Given the description of an element on the screen output the (x, y) to click on. 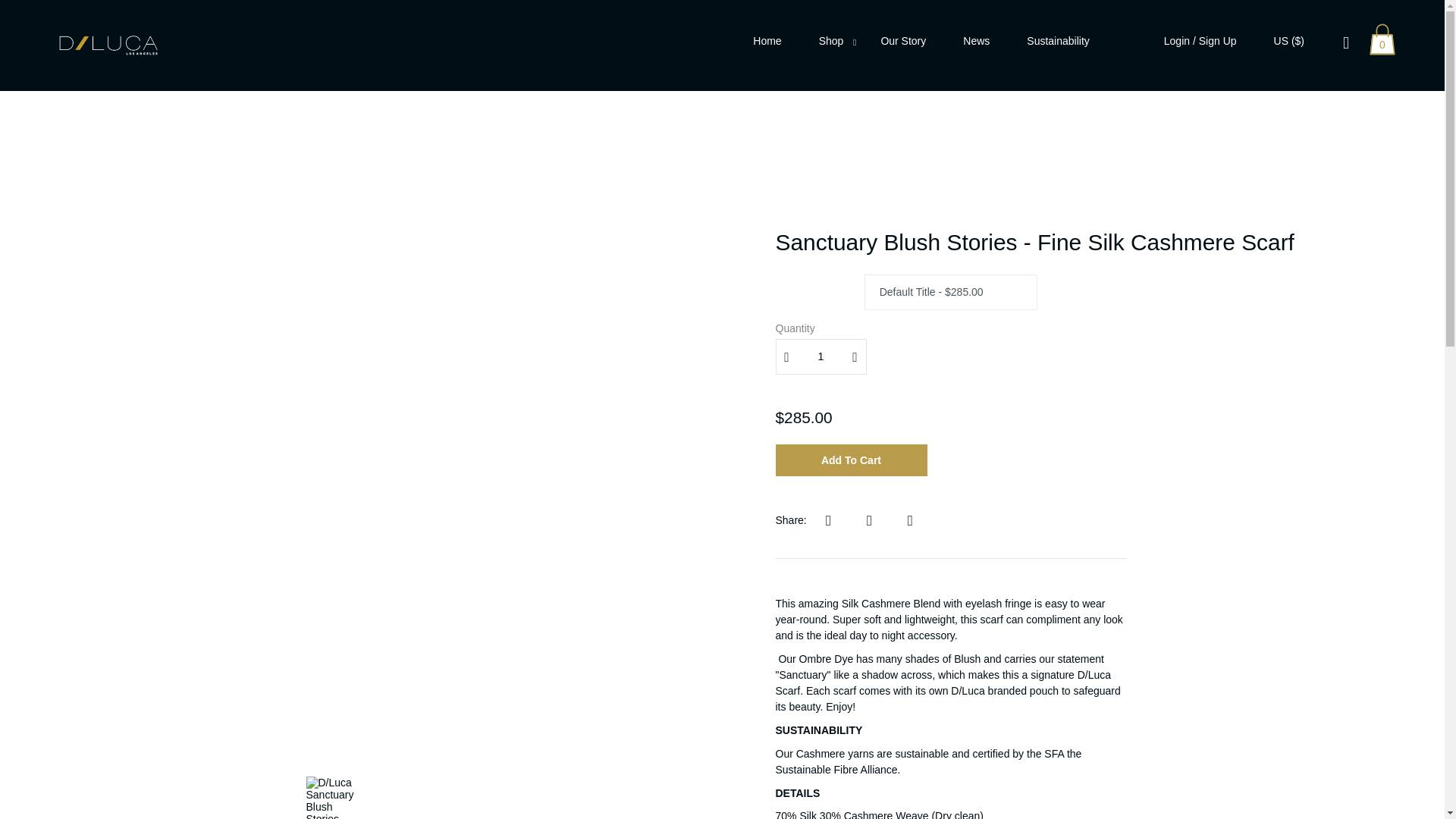
Our Story (903, 40)
Sustainability (1057, 40)
1 (820, 356)
Sign Up (1217, 40)
Shop (831, 40)
0 (1383, 41)
Login (1176, 40)
Home (766, 40)
News (976, 40)
Happy Holidays ! (721, 13)
